Given the description of an element on the screen output the (x, y) to click on. 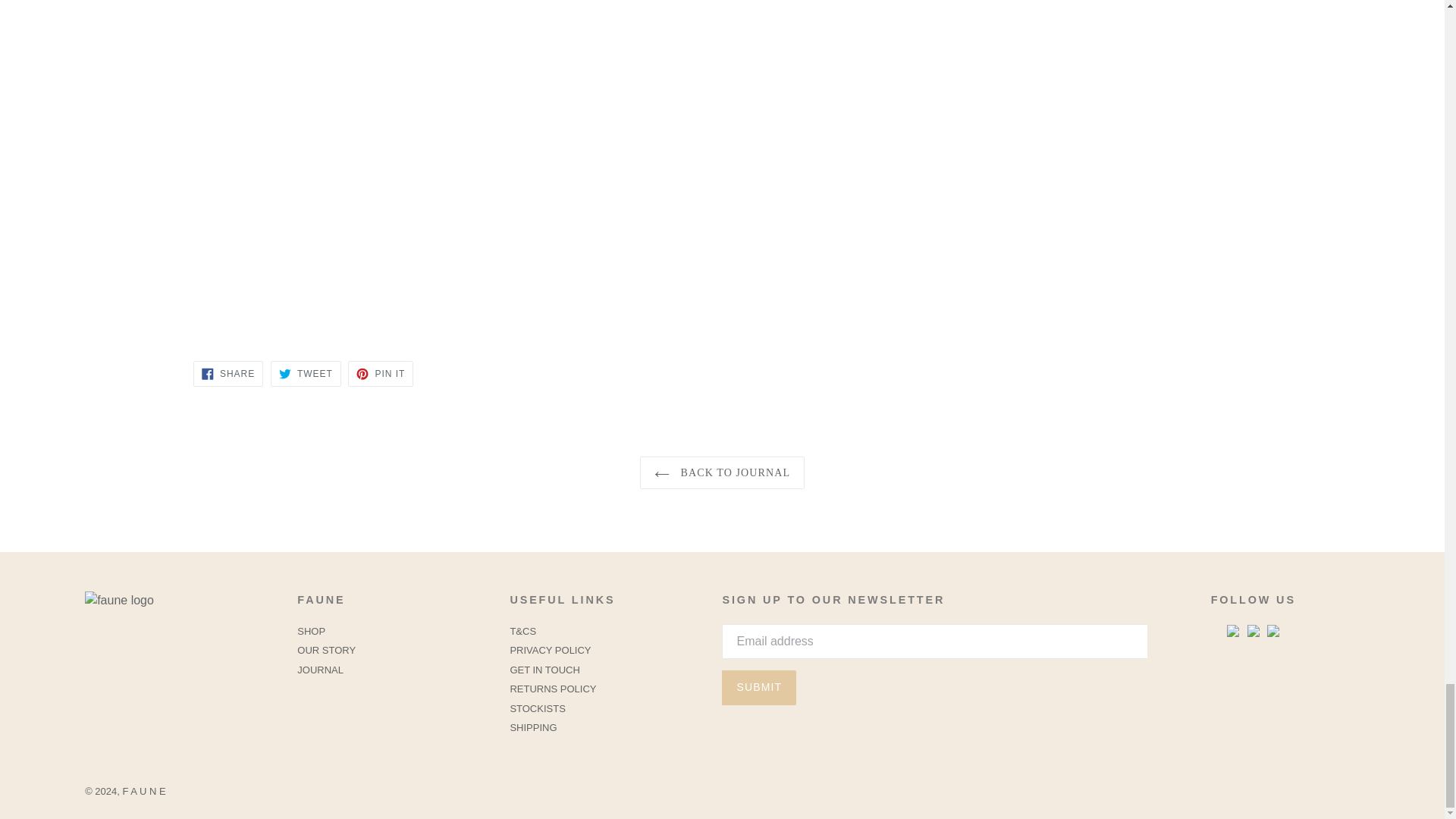
F A U N E  on Instagram (1232, 633)
F A U N E  on Pinterest (1273, 633)
Tweet on Twitter (305, 373)
Share on Facebook (228, 373)
F A U N E  on Facebook (1253, 633)
Pin on Pinterest (380, 373)
